Given the description of an element on the screen output the (x, y) to click on. 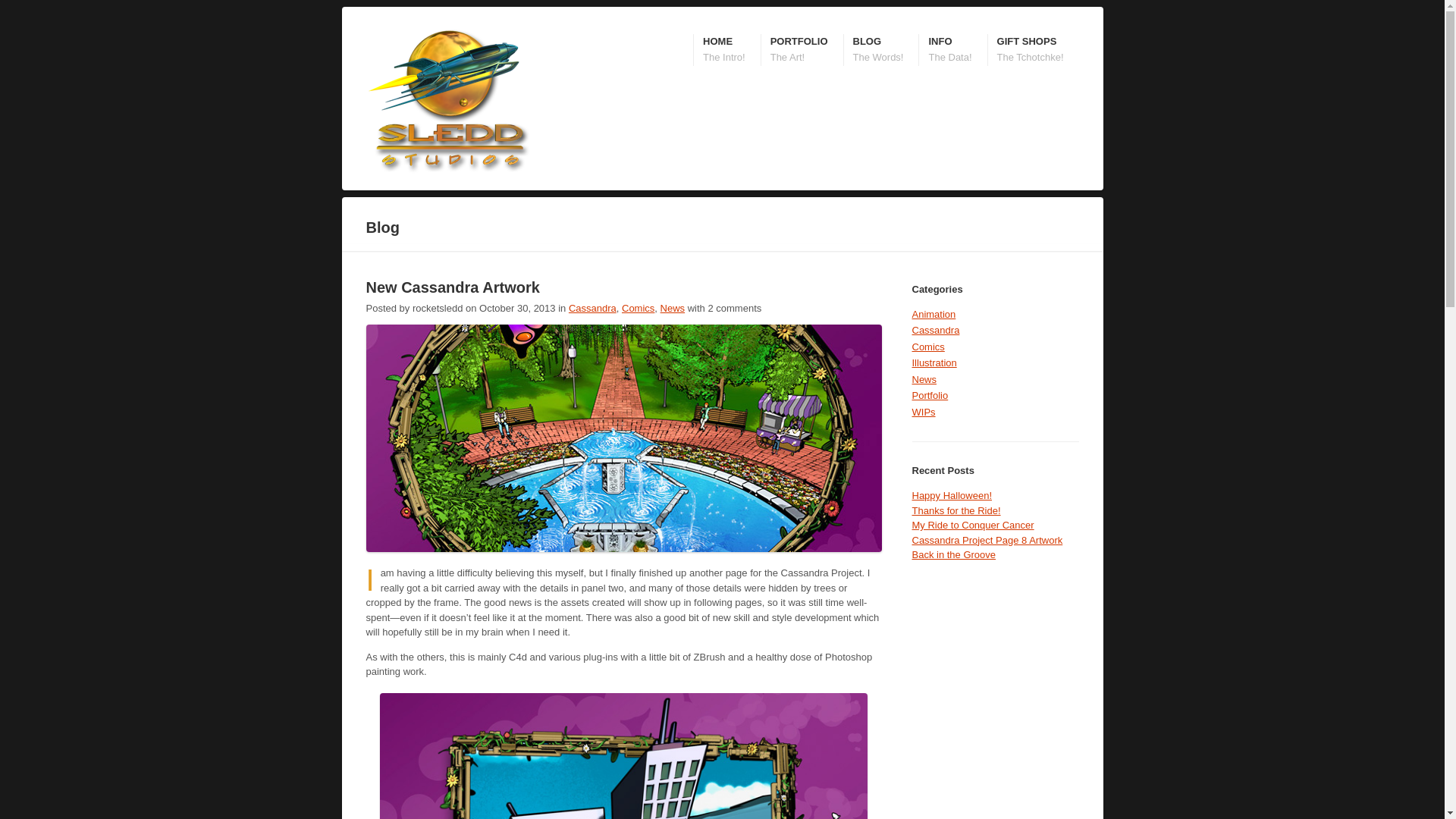
New Cassandra Artwork (1030, 49)
Cassandra Page 3 Teaser (622, 439)
